Given the description of an element on the screen output the (x, y) to click on. 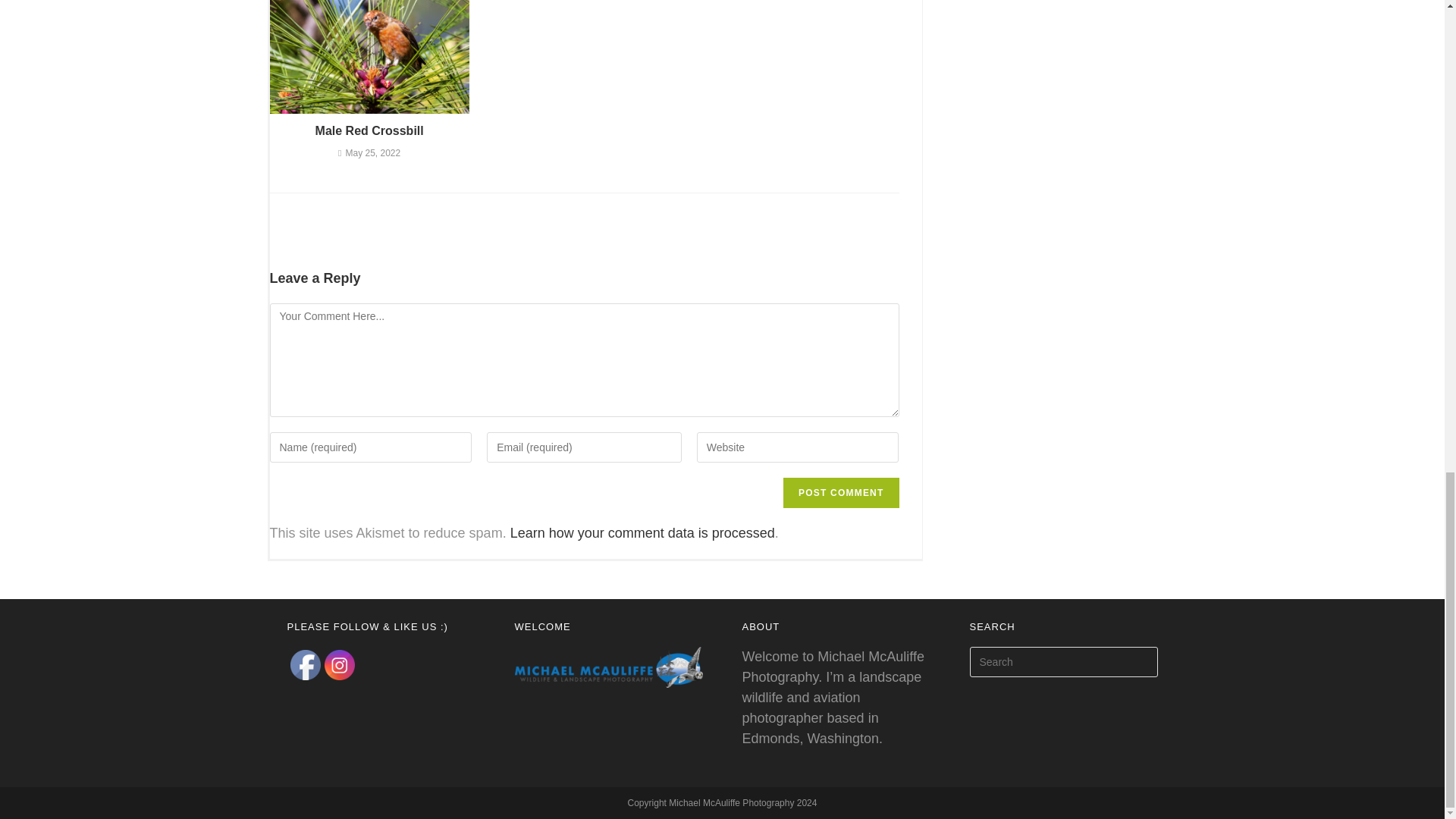
Post Comment (840, 492)
Facebook (304, 665)
Post Comment (840, 492)
Instagram (339, 665)
Learn how your comment data is processed (642, 532)
Male Red Crossbill (369, 130)
Male Red Crossbill (369, 130)
